Given the description of an element on the screen output the (x, y) to click on. 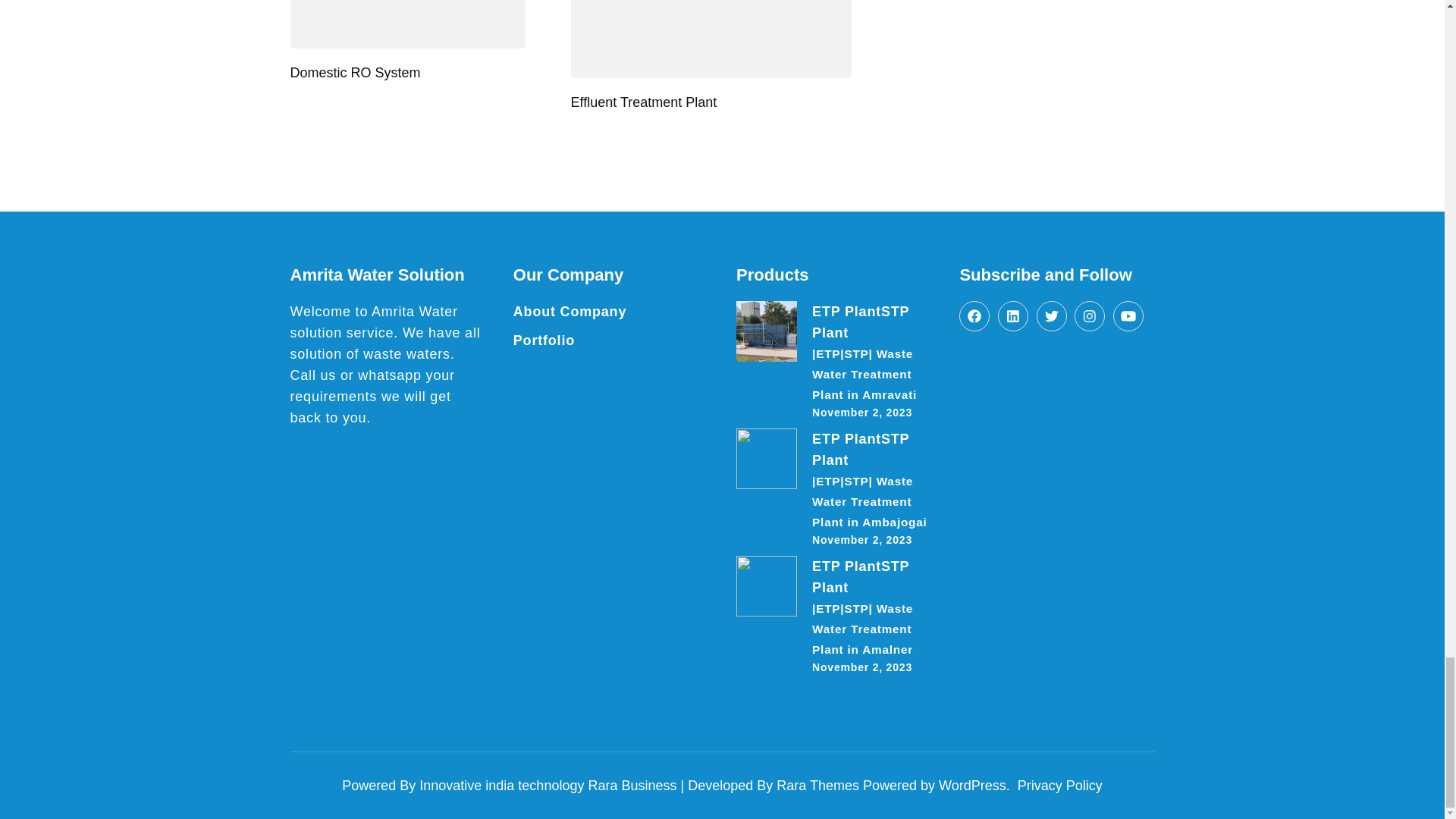
facebook (974, 316)
linkedin (1012, 316)
instagram (1089, 316)
twitter (1051, 316)
youtube (1127, 316)
